Given the description of an element on the screen output the (x, y) to click on. 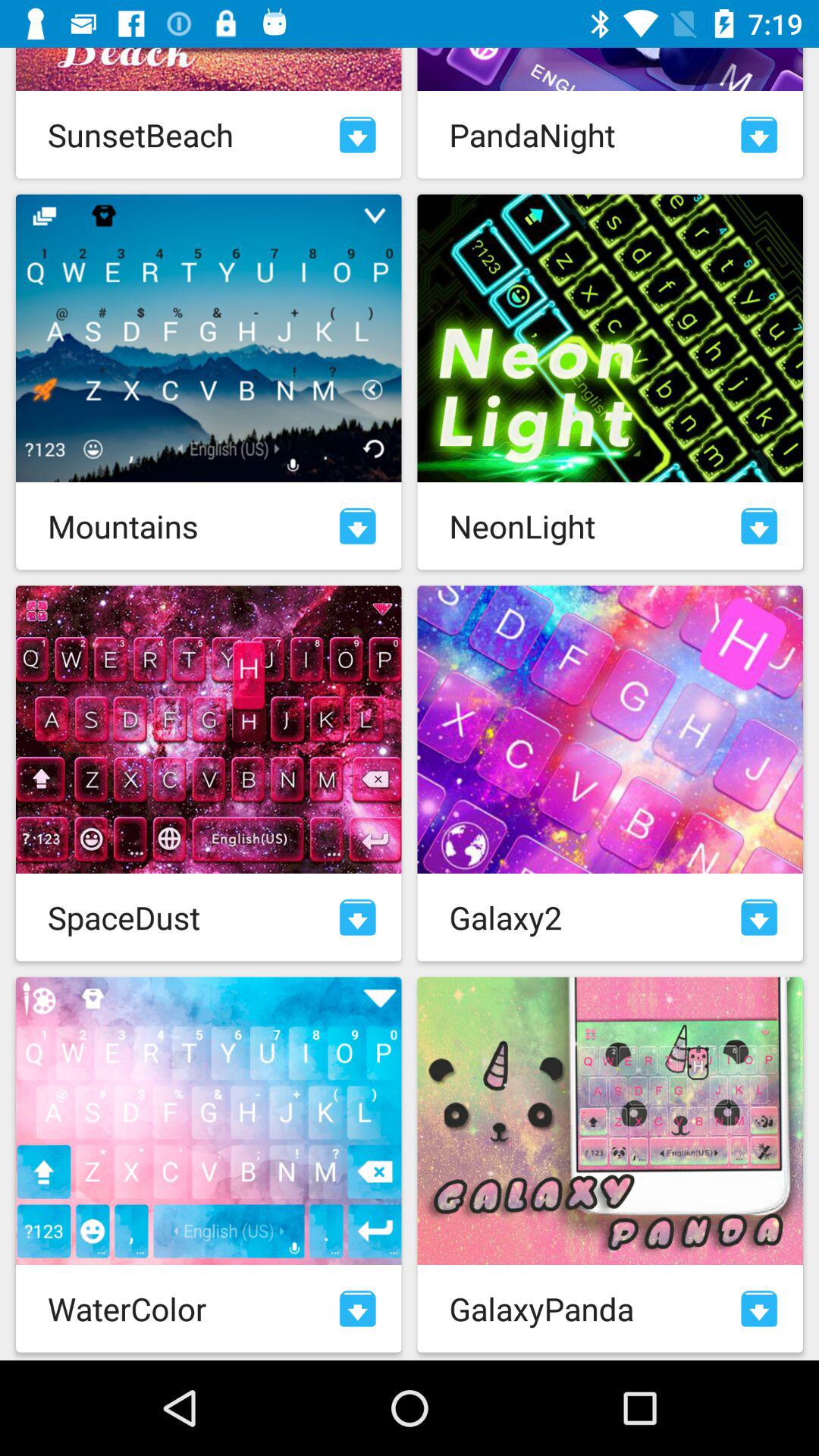
pandanight (759, 134)
